Given the description of an element on the screen output the (x, y) to click on. 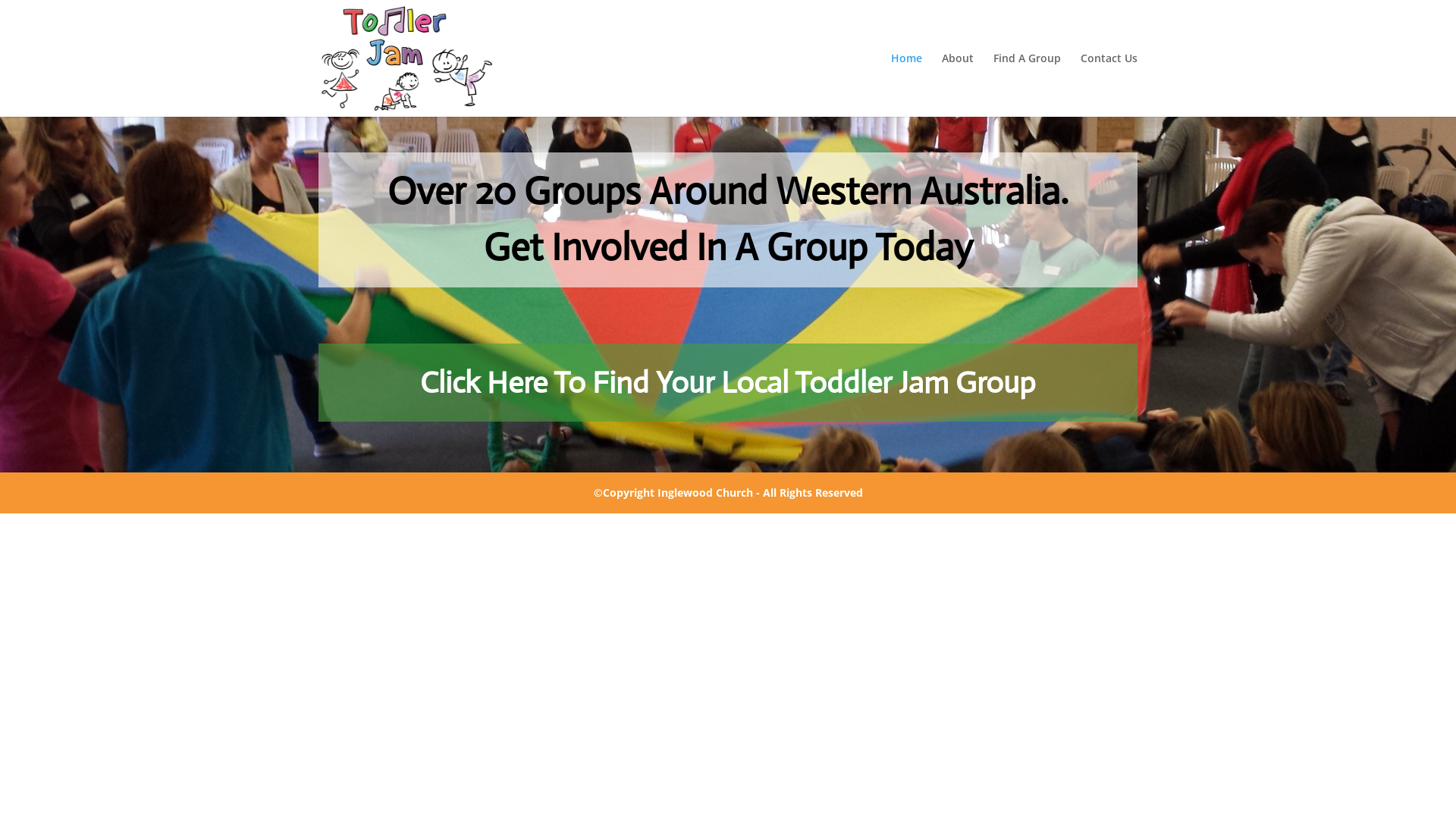
About Element type: text (957, 84)
Click Here To Find Your Local Toddler Jam Group Element type: text (727, 382)
Home Element type: text (906, 84)
Find A Group Element type: text (1026, 84)
Contact Us Element type: text (1108, 84)
